Given the description of an element on the screen output the (x, y) to click on. 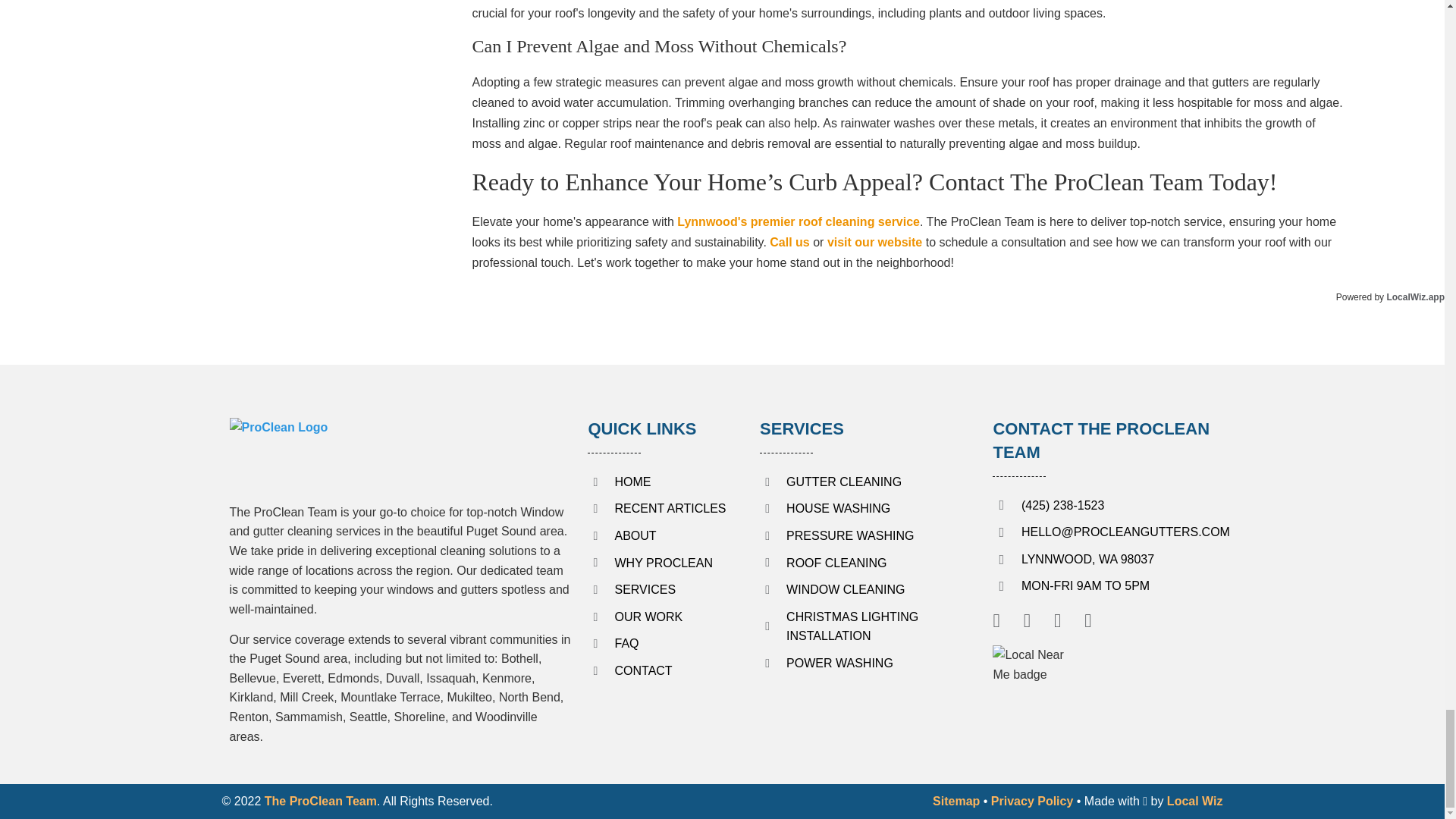
Local Near Me badge - The ProClean Team (1033, 676)
Lynnwood's premier roof cleaning service (798, 221)
visit our website (874, 241)
ProClean Logo - The ProClean Team (349, 452)
Sitemap (956, 800)
Call us (789, 241)
